Given the description of an element on the screen output the (x, y) to click on. 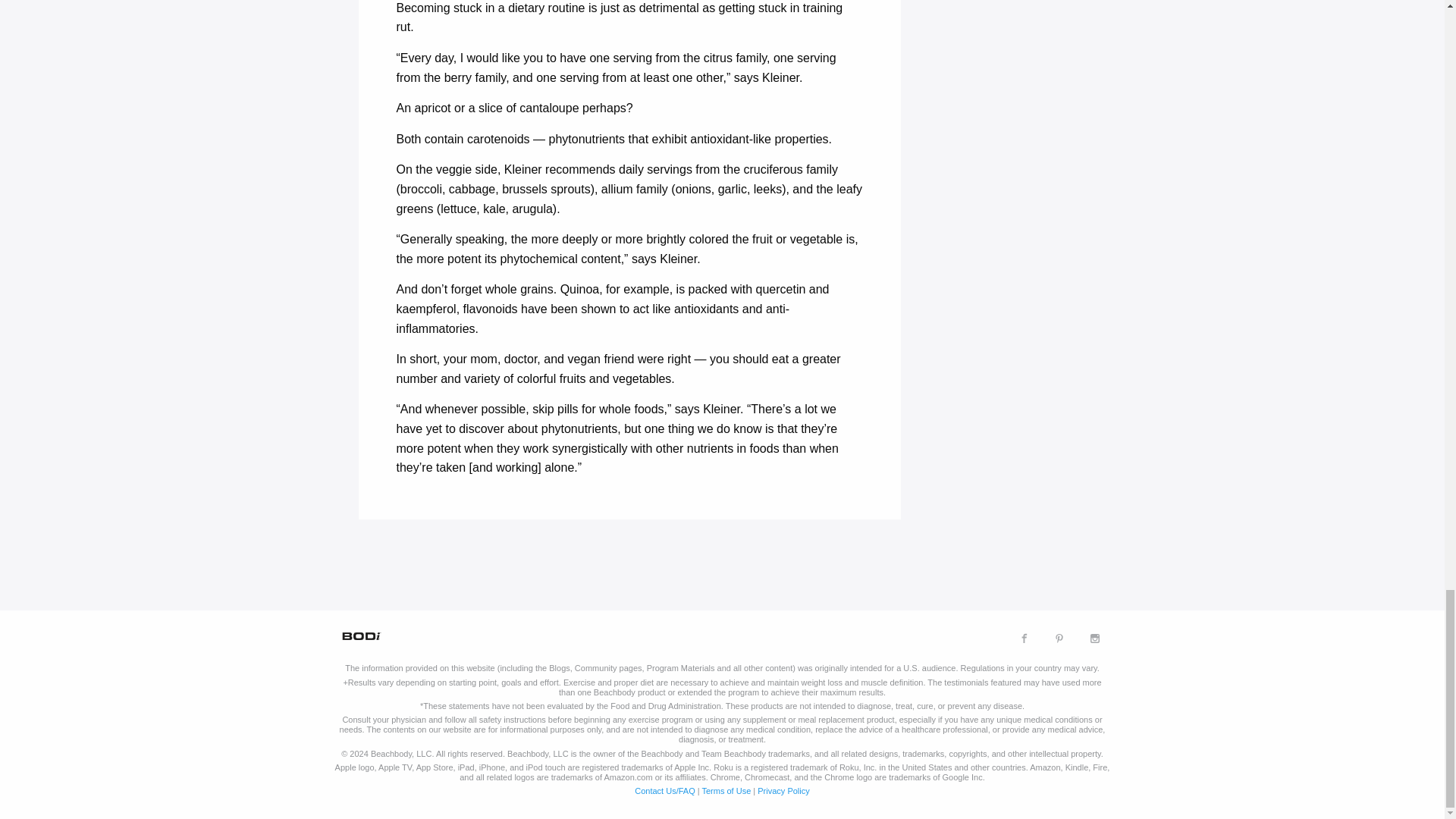
Beachbody on Demand (360, 635)
